Given the description of an element on the screen output the (x, y) to click on. 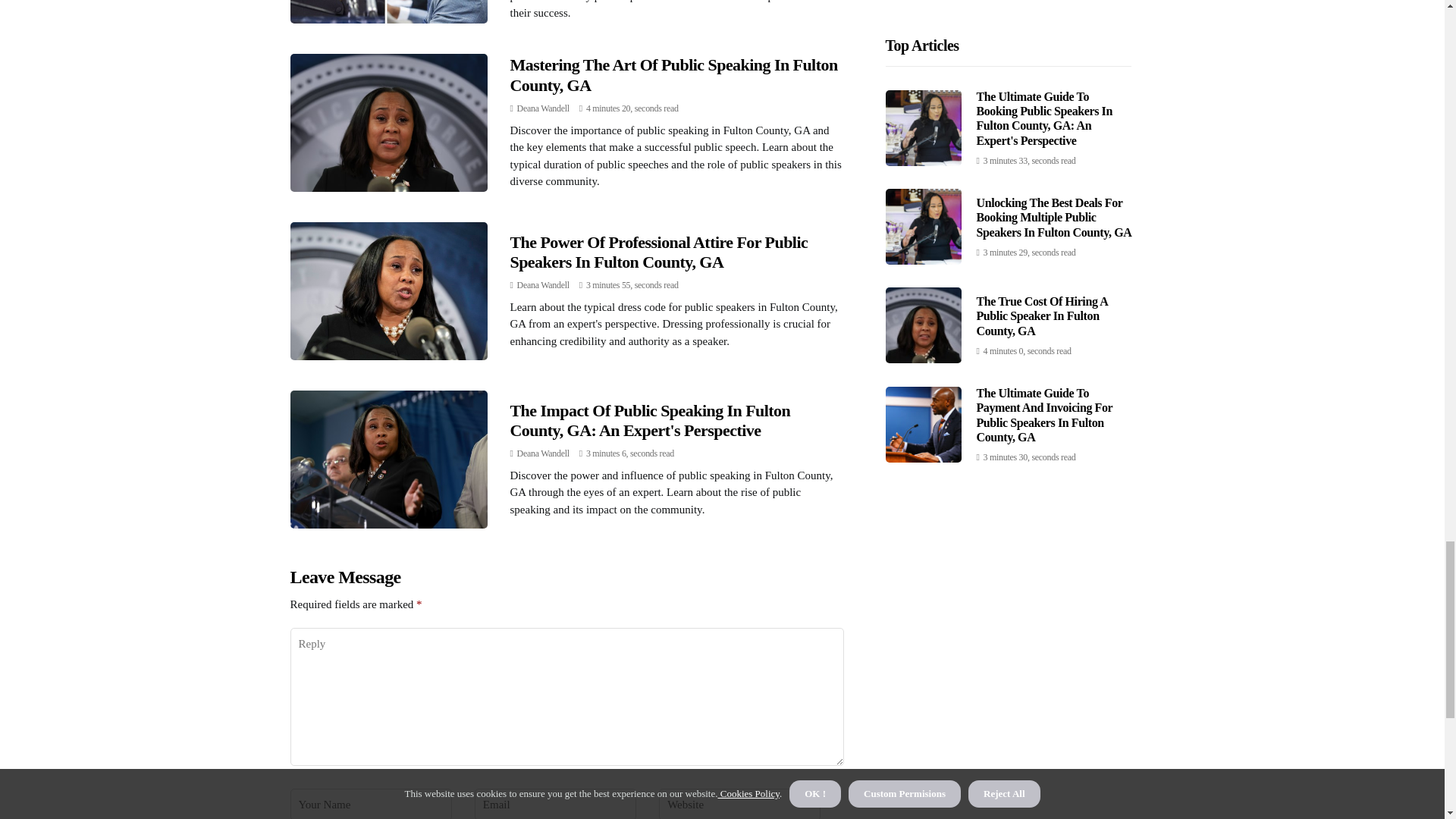
Mastering The Art Of Public Speaking In Fulton County, GA (673, 74)
Deana Wandell (542, 285)
Posts by Deana Wandell (542, 285)
Deana Wandell (542, 452)
Deana Wandell (542, 108)
Posts by Deana Wandell (542, 452)
Posts by Deana Wandell (542, 108)
